Given the description of an element on the screen output the (x, y) to click on. 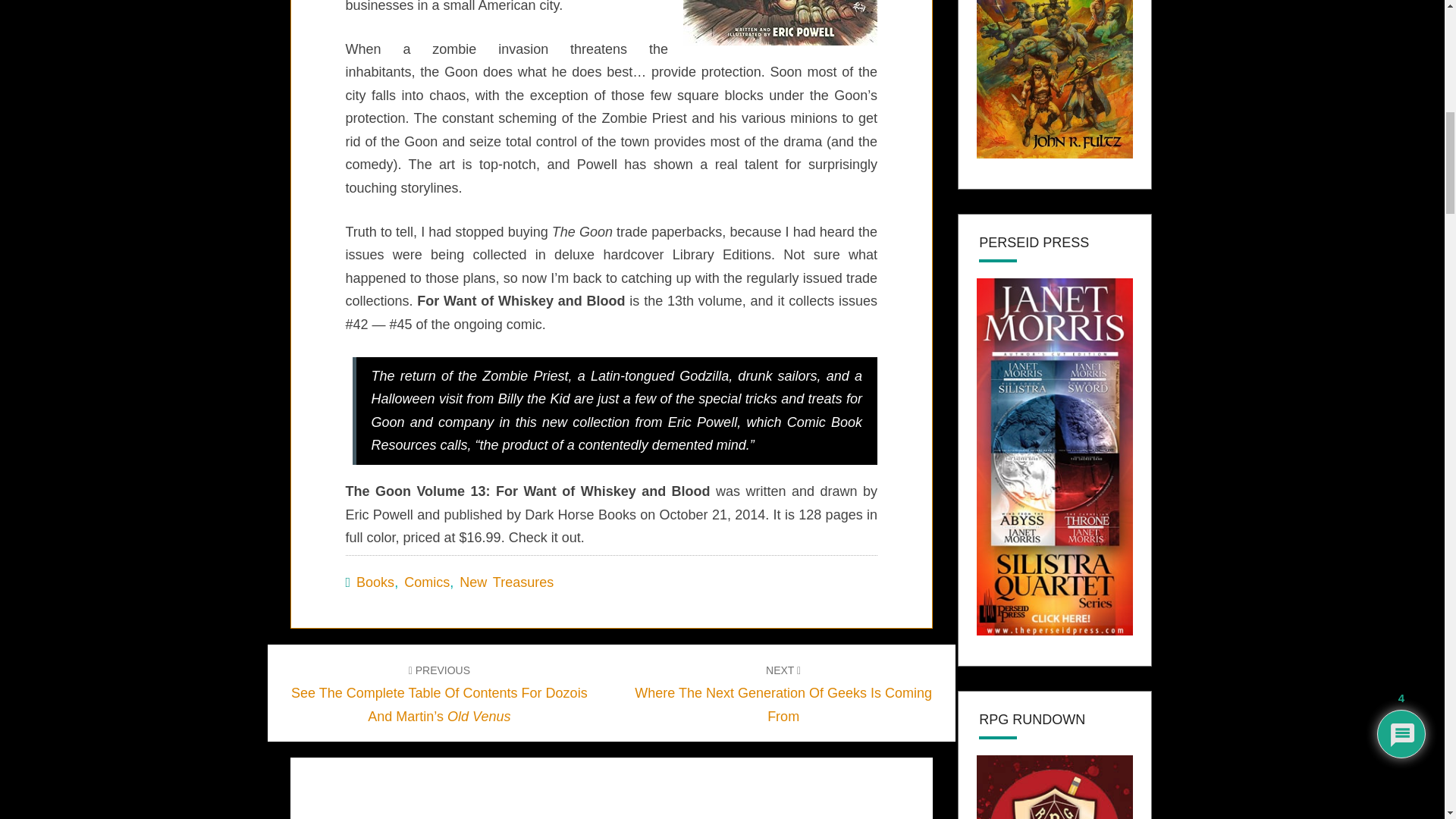
Comics (426, 581)
Books (375, 581)
New Treasures (506, 581)
